Given the description of an element on the screen output the (x, y) to click on. 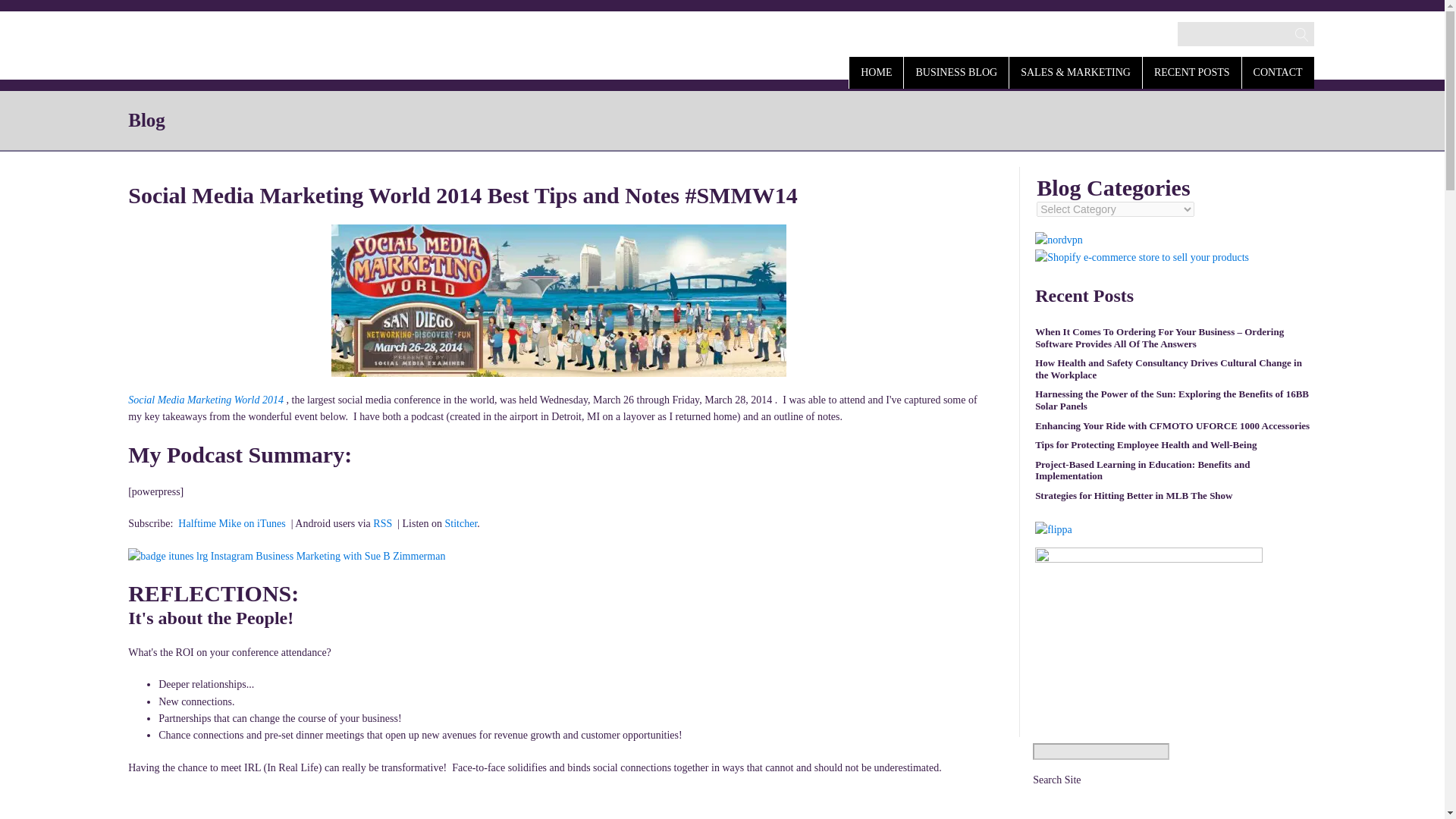
BUSINESS BLOG (956, 71)
Search (27, 12)
Podcast RSS feed (381, 523)
HOME (875, 71)
badge itunes lrg Doable Digital Marketing (286, 556)
Mike Gingerich Halftime Mike Podcast on iTunes (231, 523)
Social Media Marketing World 2014 (205, 399)
